Given the description of an element on the screen output the (x, y) to click on. 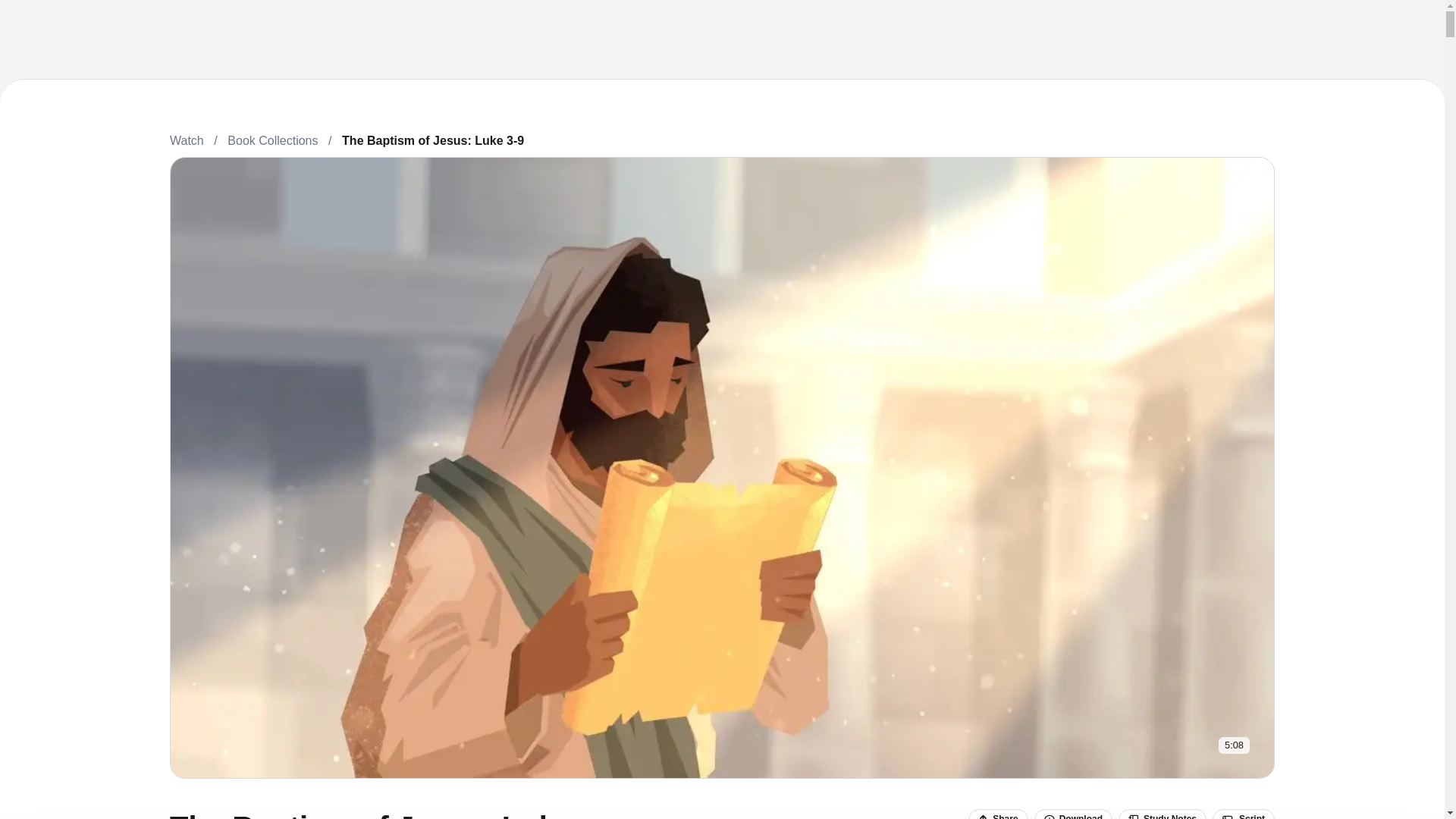
Book Collections (272, 140)
Script (1243, 814)
Download (1072, 814)
Study Notes (1162, 814)
Share (997, 814)
Watch (186, 140)
